Given the description of an element on the screen output the (x, y) to click on. 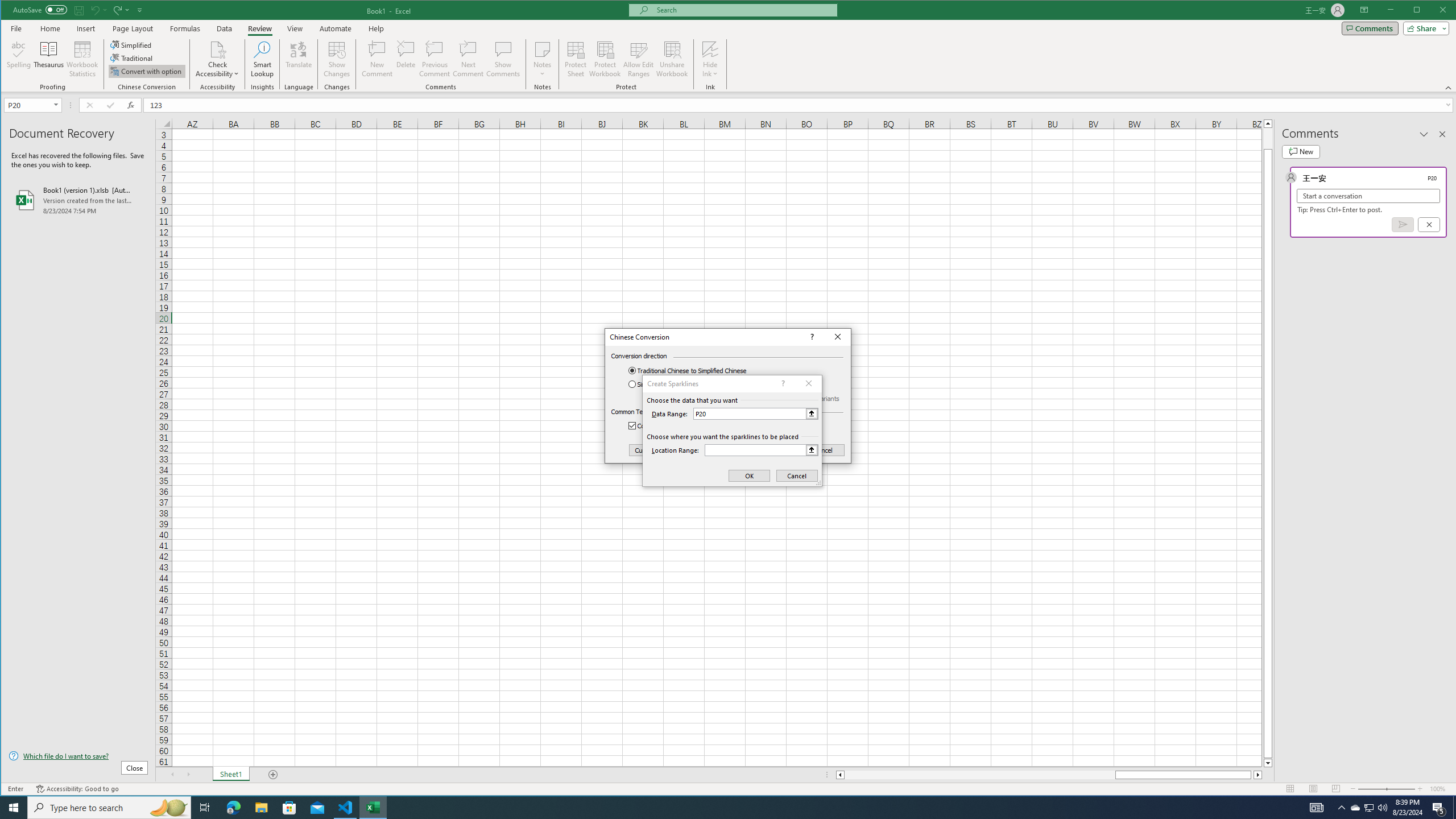
Cancel (823, 450)
Convert common terms (670, 425)
Context help (810, 336)
Use Taiwan, Hong Kong SAR, and Macao SAR character variants (748, 397)
Custom Dictionary ... (664, 450)
Traditional Chinese to Simplified Chinese (696, 370)
OK (771, 450)
Simplified Chinese to Traditional Chinese (696, 384)
